Given the description of an element on the screen output the (x, y) to click on. 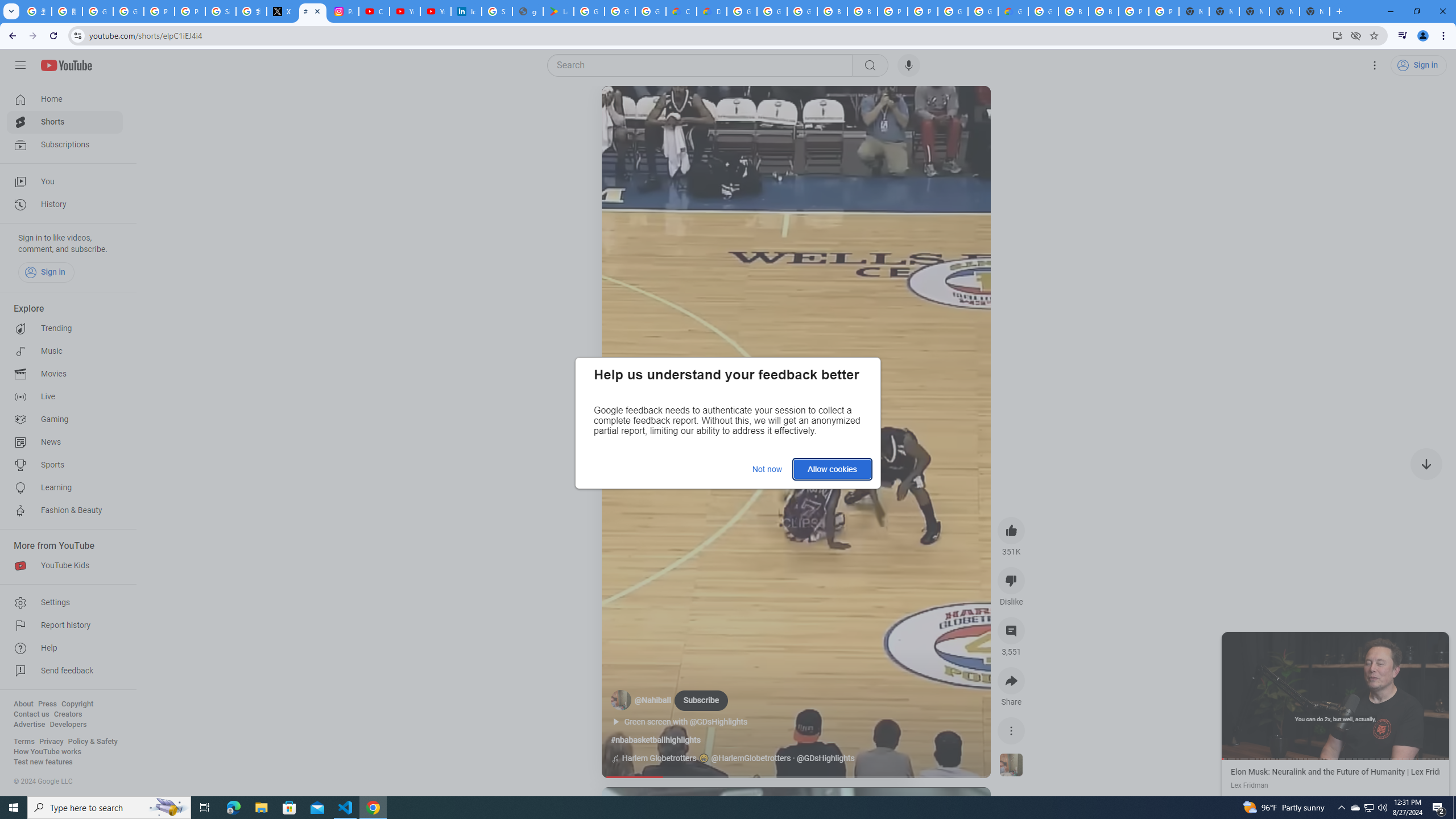
Last Shelter: Survival - Apps on Google Play (558, 11)
Pause (k) (1334, 694)
Browse Chrome as a guest - Computer - Google Chrome Help (1072, 11)
#nbabasketballhighlights - YouTube (312, 11)
Settings (1374, 65)
Google Workspace - Specific Terms (619, 11)
Subscriptions (64, 144)
Advertise (29, 724)
